Given the description of an element on the screen output the (x, y) to click on. 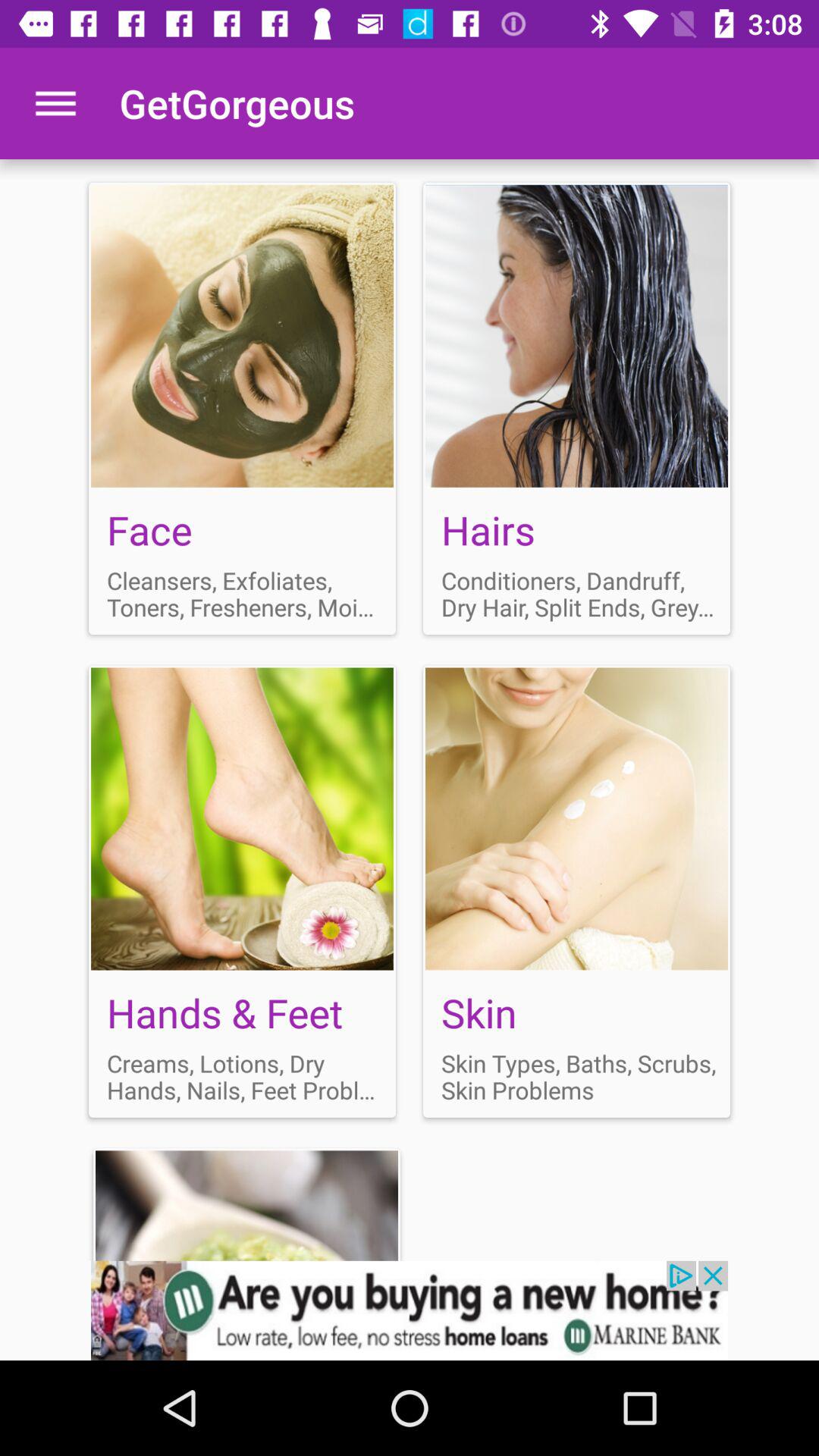
skin skin types baths scrubs skin problems (576, 891)
